Given the description of an element on the screen output the (x, y) to click on. 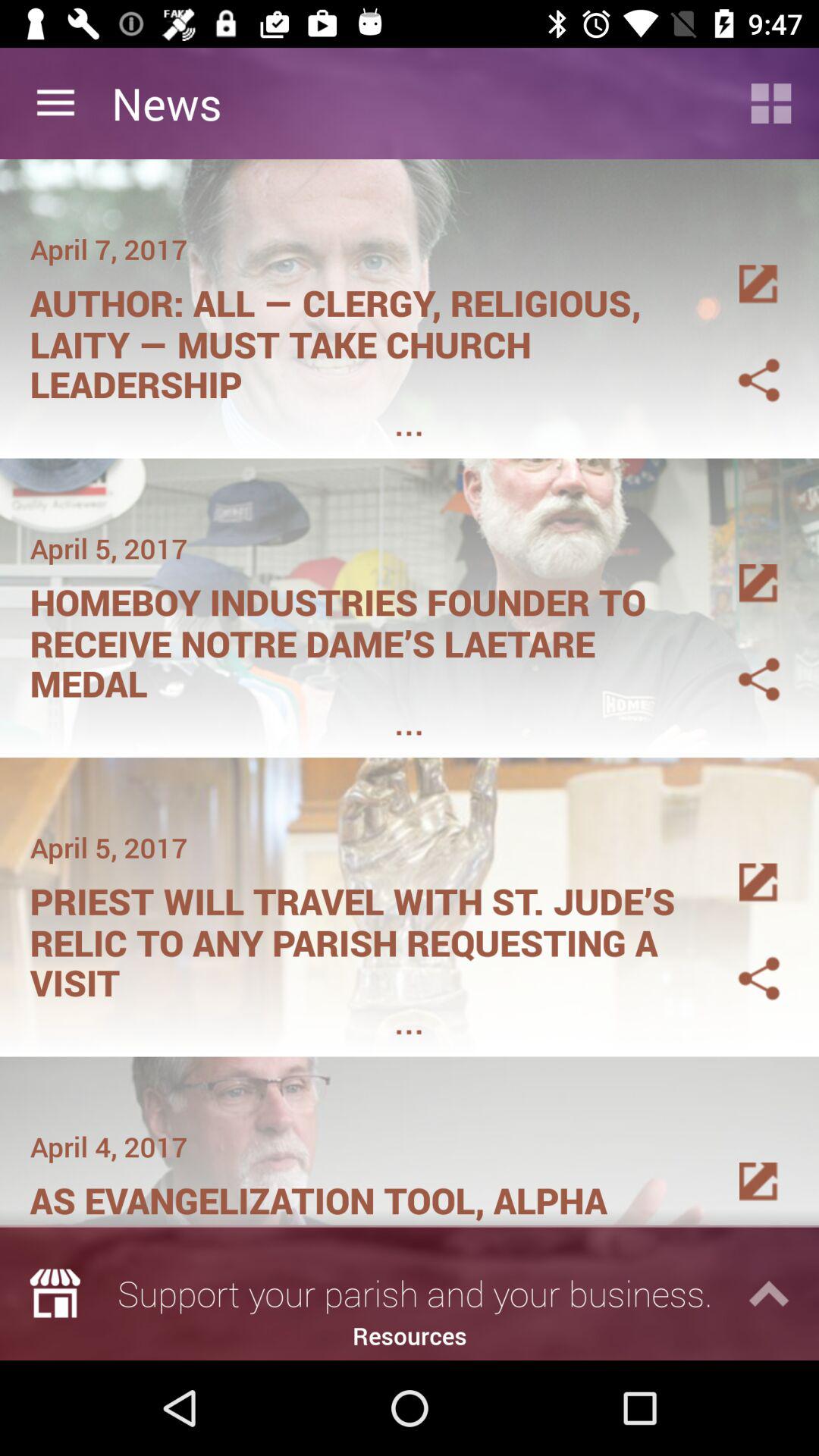
open item below april 7, 2017 (361, 338)
